Given the description of an element on the screen output the (x, y) to click on. 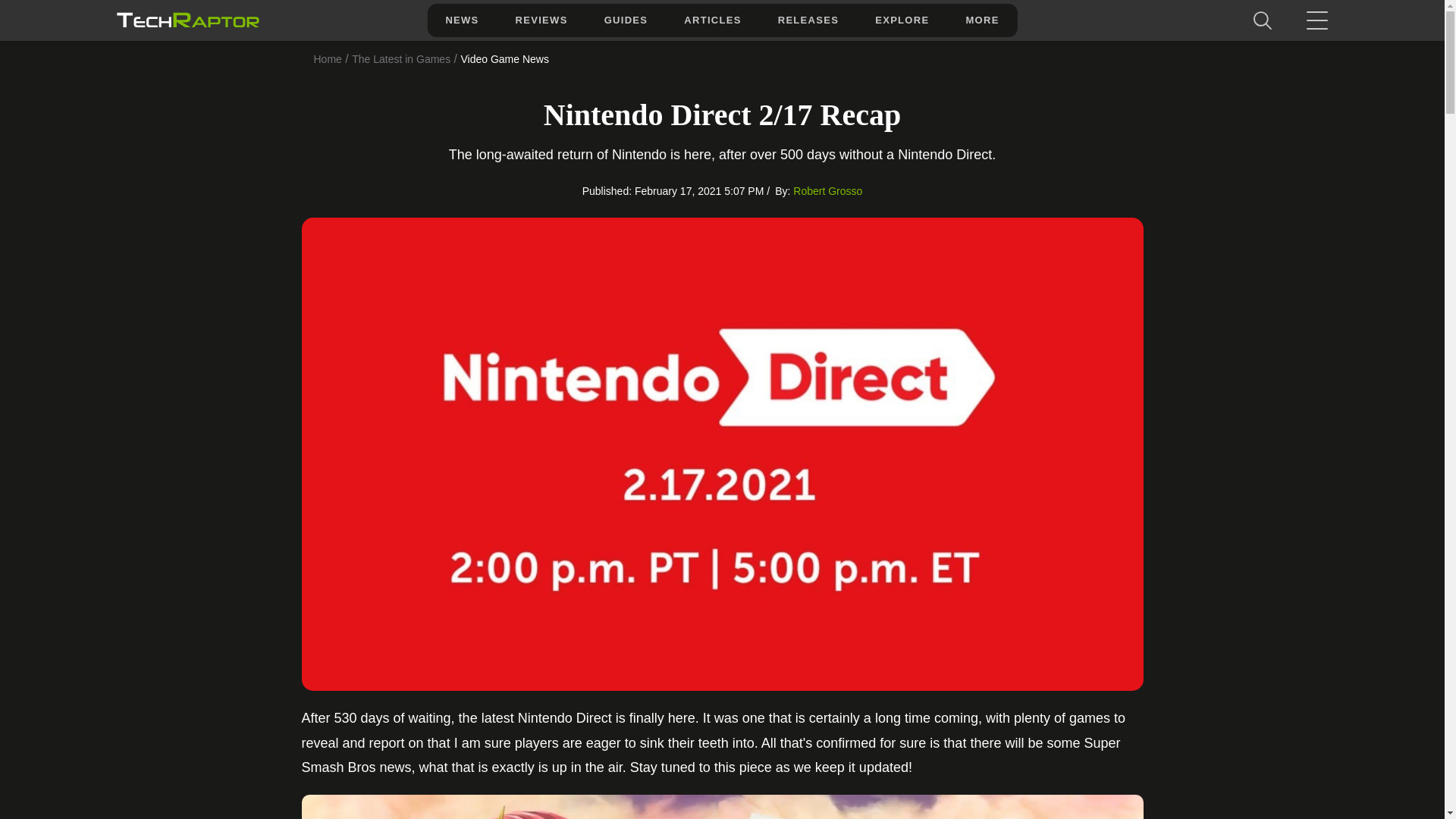
GUIDES (626, 20)
REVIEWS (541, 20)
RELEASES (807, 20)
ARTICLES (711, 20)
TechRaptor Home (187, 20)
NEWS (461, 20)
